Given the description of an element on the screen output the (x, y) to click on. 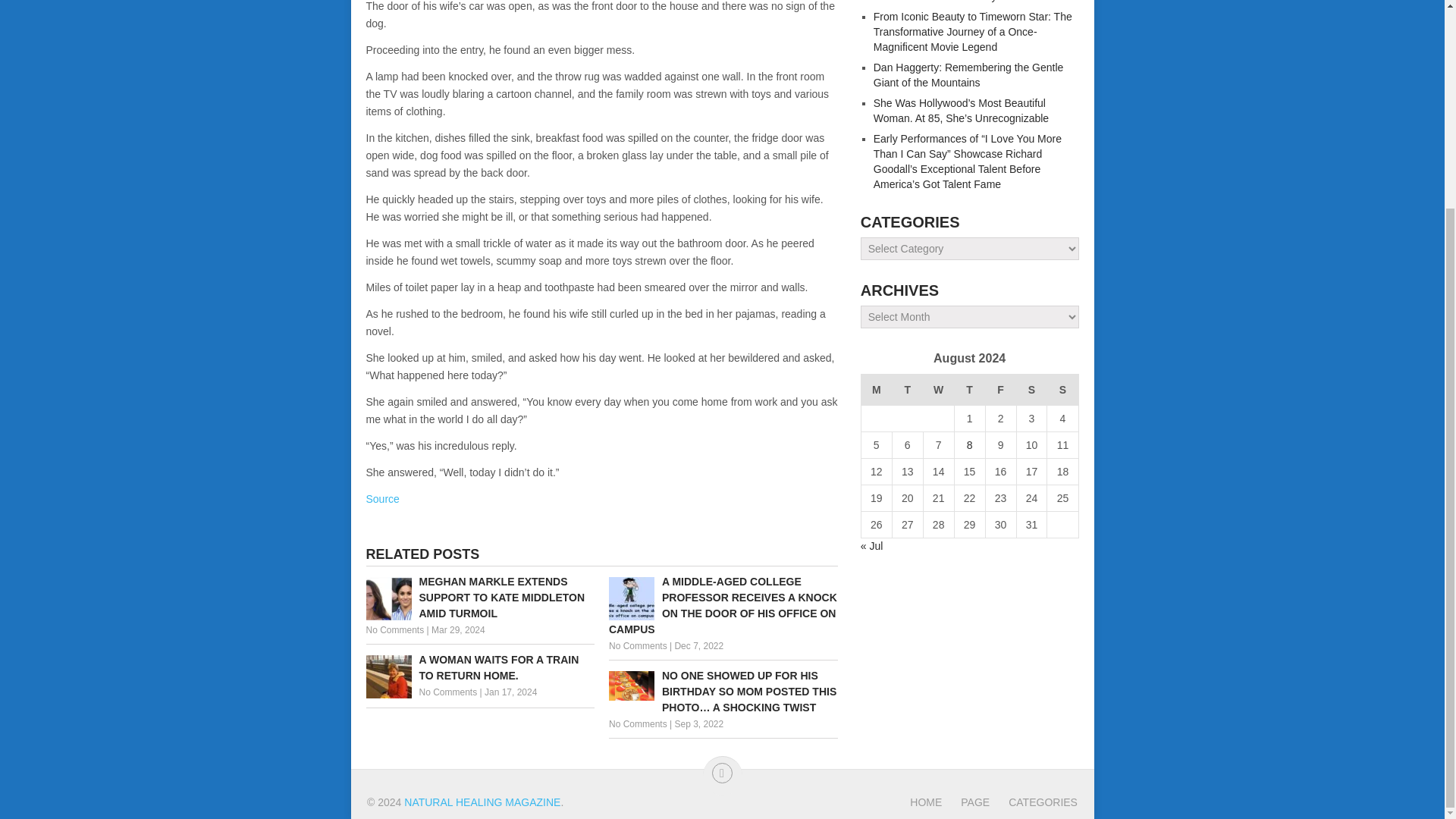
No Comments (448, 692)
No Comments (394, 629)
Meghan Markle Extends Support to Kate Middleton Amid Turmoil (479, 597)
Source (381, 499)
MEGHAN MARKLE EXTENDS SUPPORT TO KATE MIDDLETON AMID TURMOIL (479, 597)
Wednesday (938, 389)
A Woman Waits For a Train to Return Home. (479, 667)
No Comments (637, 645)
Monday (875, 389)
